Given the description of an element on the screen output the (x, y) to click on. 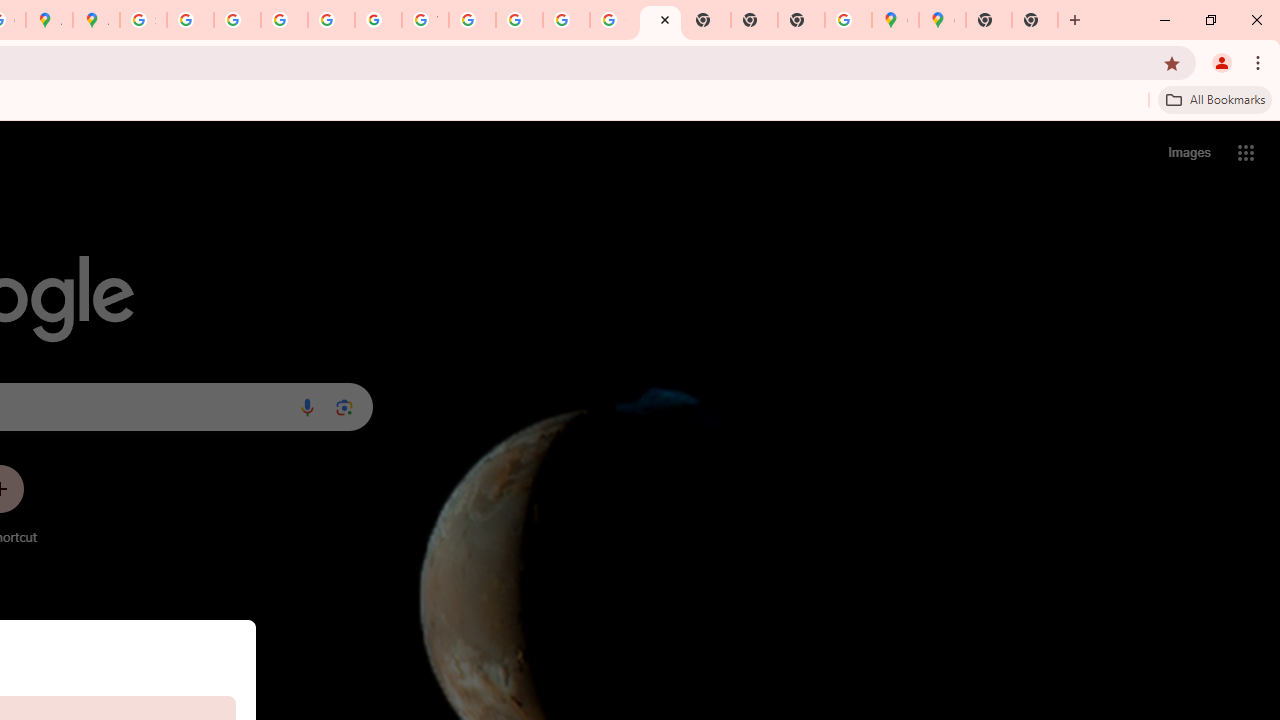
New Tab (989, 20)
Use Google Maps in Space - Google Maps Help (848, 20)
Sign in - Google Accounts (143, 20)
New Tab (1035, 20)
Privacy Help Center - Policies Help (284, 20)
